Given the description of an element on the screen output the (x, y) to click on. 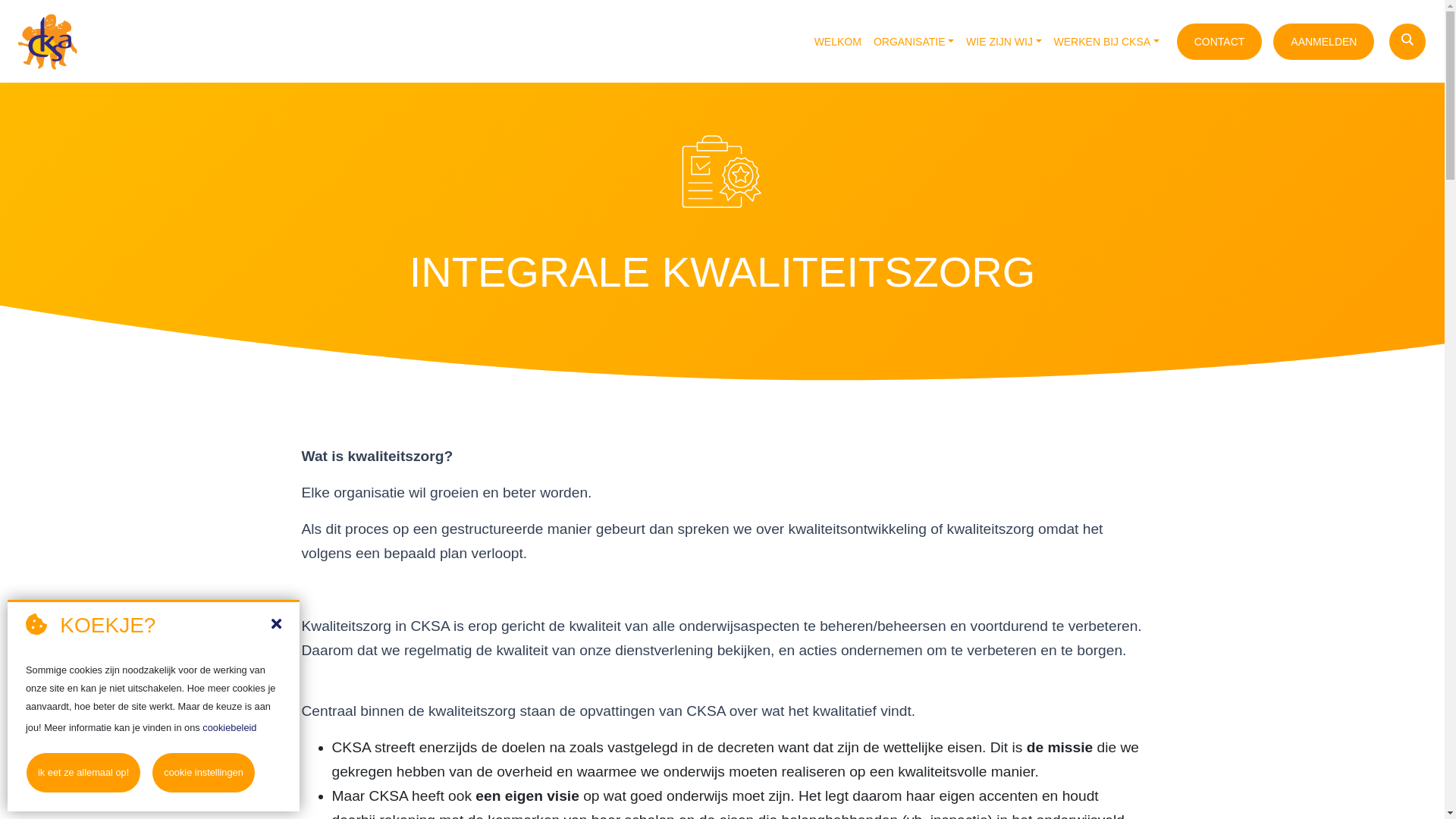
AANMELDEN Element type: text (1323, 41)
WIE ZIJN WIJ Element type: text (1003, 41)
ik eet ze allemaal op! Element type: text (83, 772)
ORGANISATIE Element type: text (913, 41)
cookiebeleid Element type: text (229, 727)
cookie instellingen Element type: text (203, 772)
WERKEN BIJ CKSA Element type: text (1106, 41)
Zoeken Element type: text (27, 12)
CONTACT Element type: text (1219, 41)
WELKOM Element type: text (837, 41)
